Given the description of an element on the screen output the (x, y) to click on. 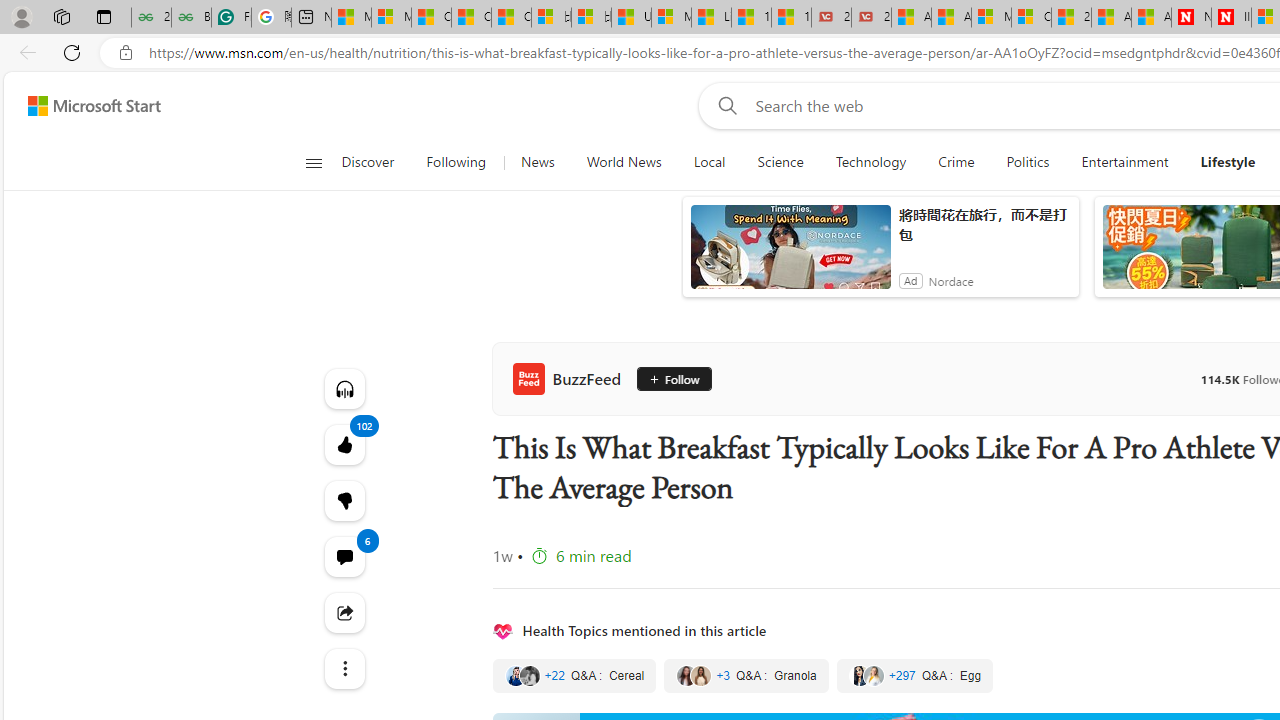
Cereal (573, 675)
Illness news & latest pictures from Newsweek.com (1231, 17)
Class: quote-thumbnail (872, 675)
Listen to this article (343, 388)
